Given the description of an element on the screen output the (x, y) to click on. 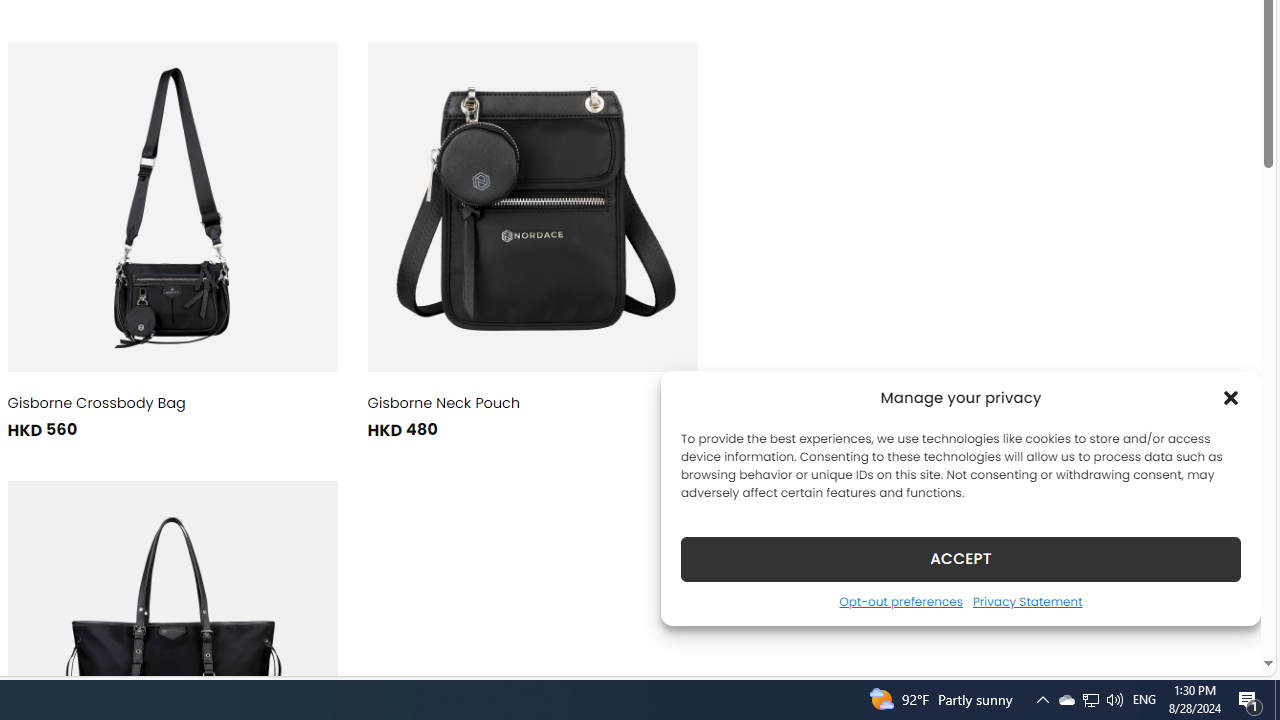
Opt-out preferences (900, 601)
Class: fill (532, 206)
Class: cmplz-close (1231, 397)
ACCEPT (960, 558)
Privacy Statement (1026, 601)
